Given the description of an element on the screen output the (x, y) to click on. 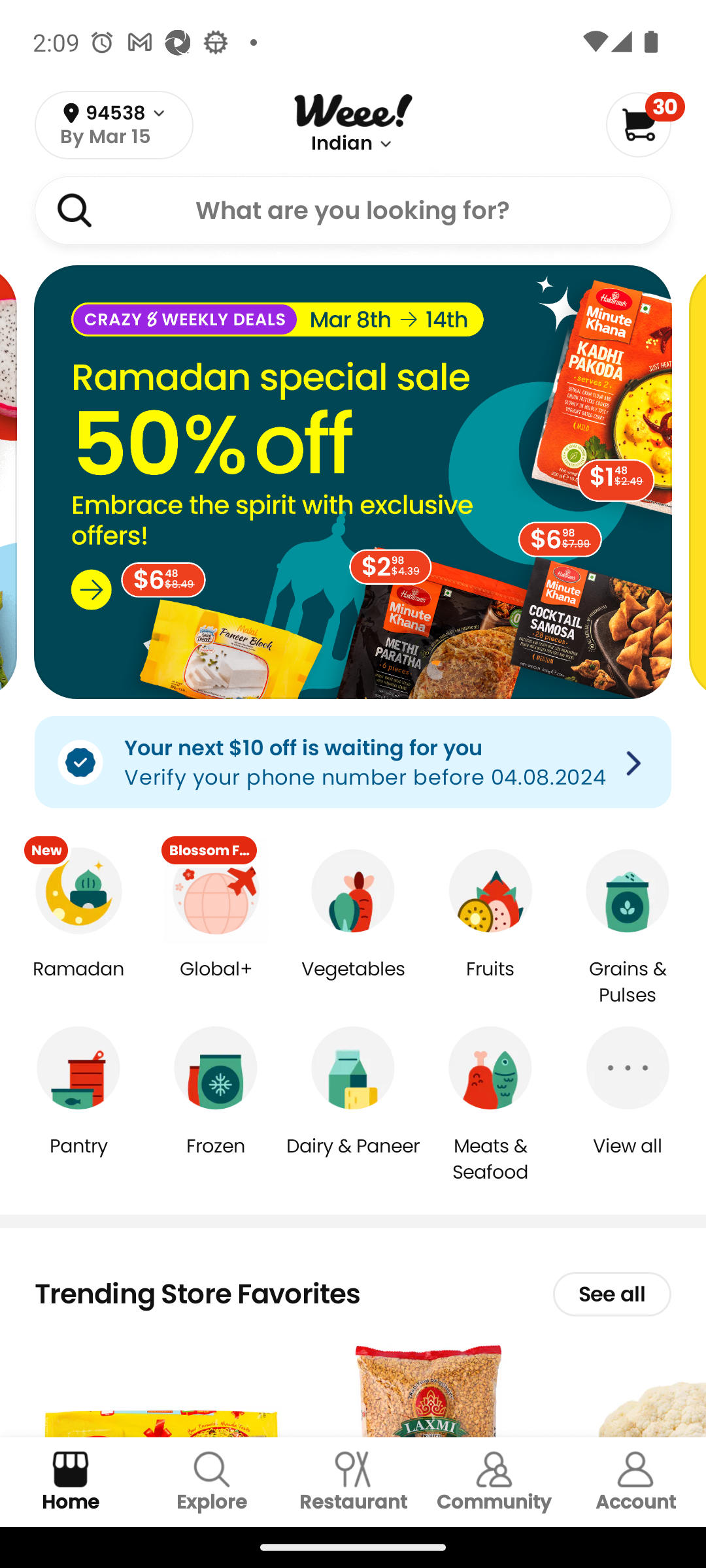
94538 By Mar 15 (113, 124)
30 (644, 124)
Indian (341, 143)
What are you looking for? (352, 209)
Ramadan (77, 982)
Global+ (215, 982)
Vegetables (352, 982)
Fruits (490, 982)
Grains & Pulses (627, 982)
Pantry (77, 1159)
Frozen (215, 1159)
Dairy & Paneer (352, 1159)
Meats & Seafood (490, 1158)
View all (627, 1159)
Home (70, 1482)
Explore (211, 1482)
Restaurant (352, 1482)
Community (493, 1482)
Account (635, 1482)
